Given the description of an element on the screen output the (x, y) to click on. 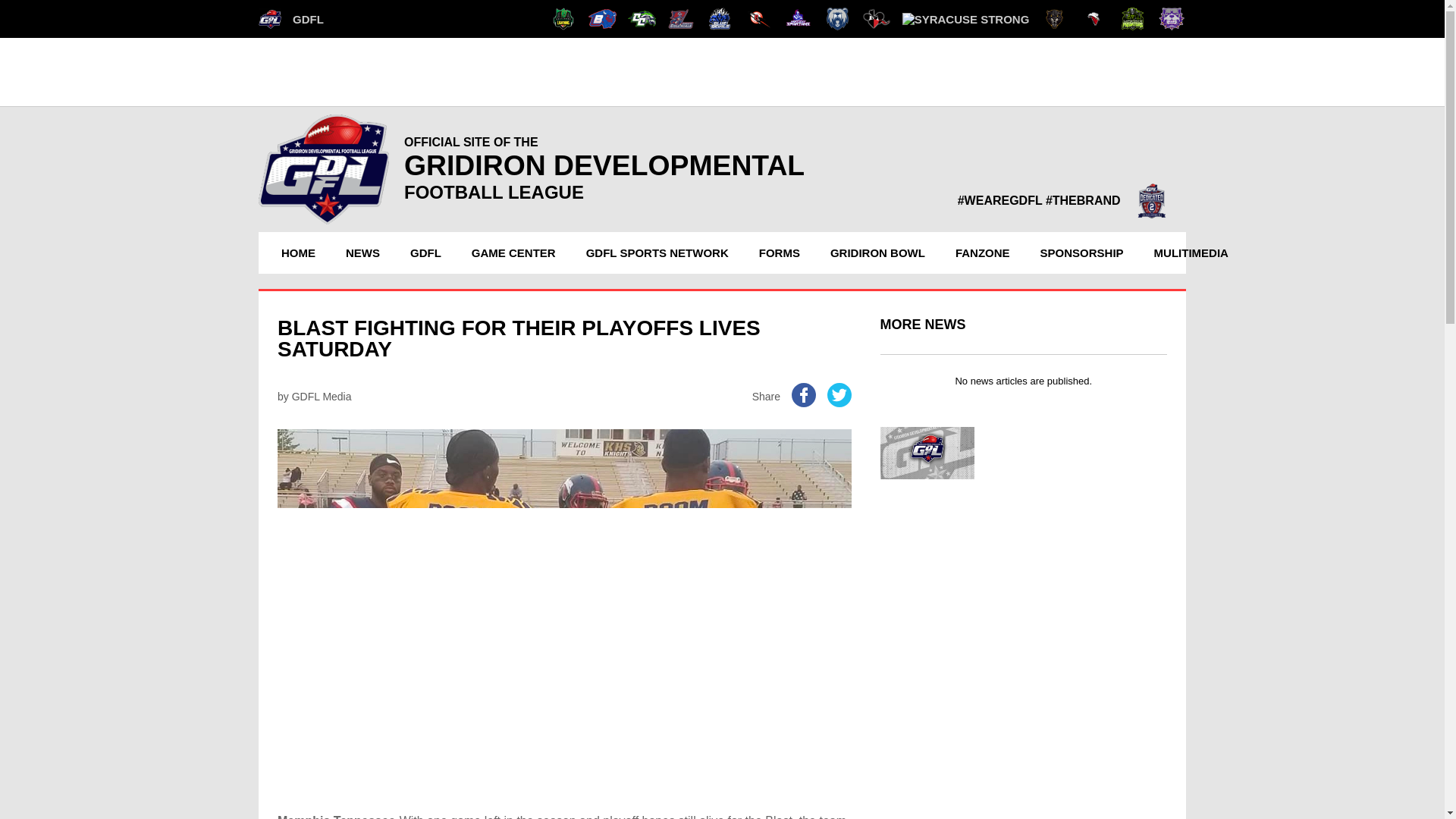
NEWS (362, 252)
GDFL (291, 18)
HOME (297, 252)
GDFL SPORTS NETWORK (657, 252)
